Given the description of an element on the screen output the (x, y) to click on. 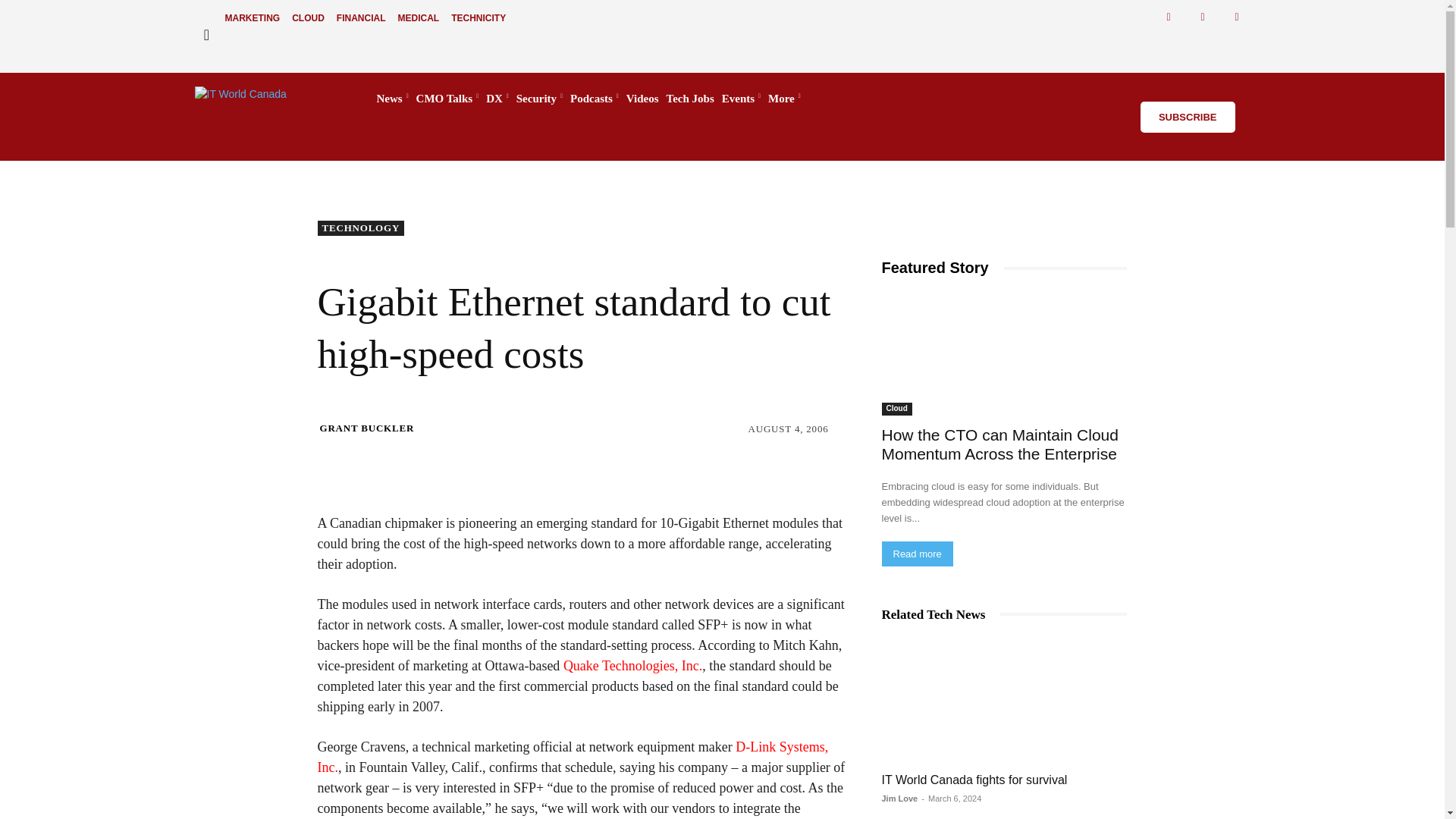
MARKETING (251, 18)
CLOUD (307, 18)
TECHNICITY (478, 18)
IT World Canada - IT News (269, 98)
Rss (1237, 17)
FINANCIAL (360, 18)
Facebook (1169, 17)
MEDICAL (418, 18)
Twitter (1202, 17)
